Given the description of an element on the screen output the (x, y) to click on. 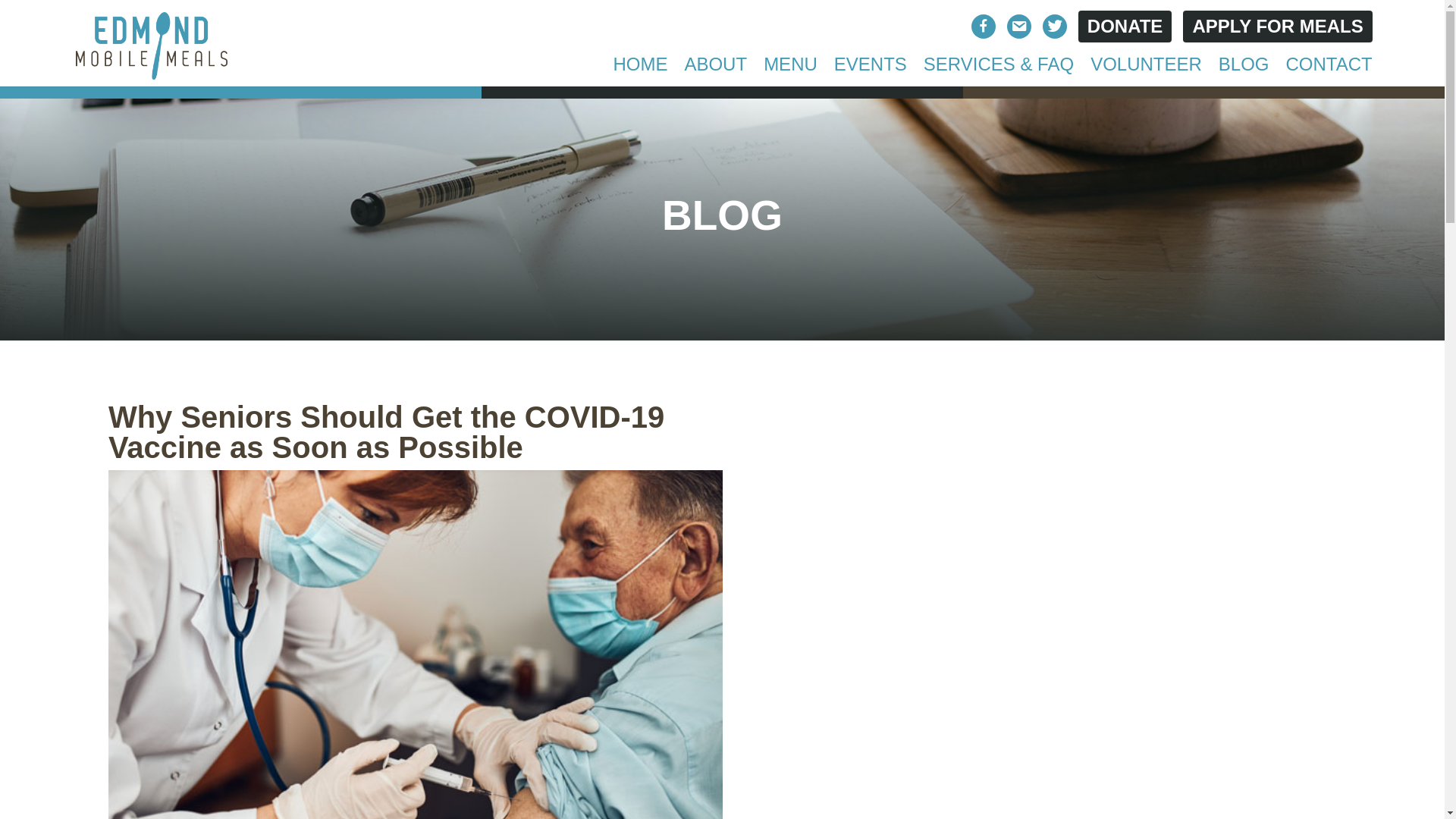
DONATE (1125, 26)
MENU (789, 72)
CONTACT (1329, 72)
Facebook (983, 28)
Email (1018, 28)
VOLUNTEER (1146, 72)
ABOUT (715, 72)
BLOG (1243, 72)
APPLY FOR MEALS (1276, 26)
Twitter (1054, 28)
